Given the description of an element on the screen output the (x, y) to click on. 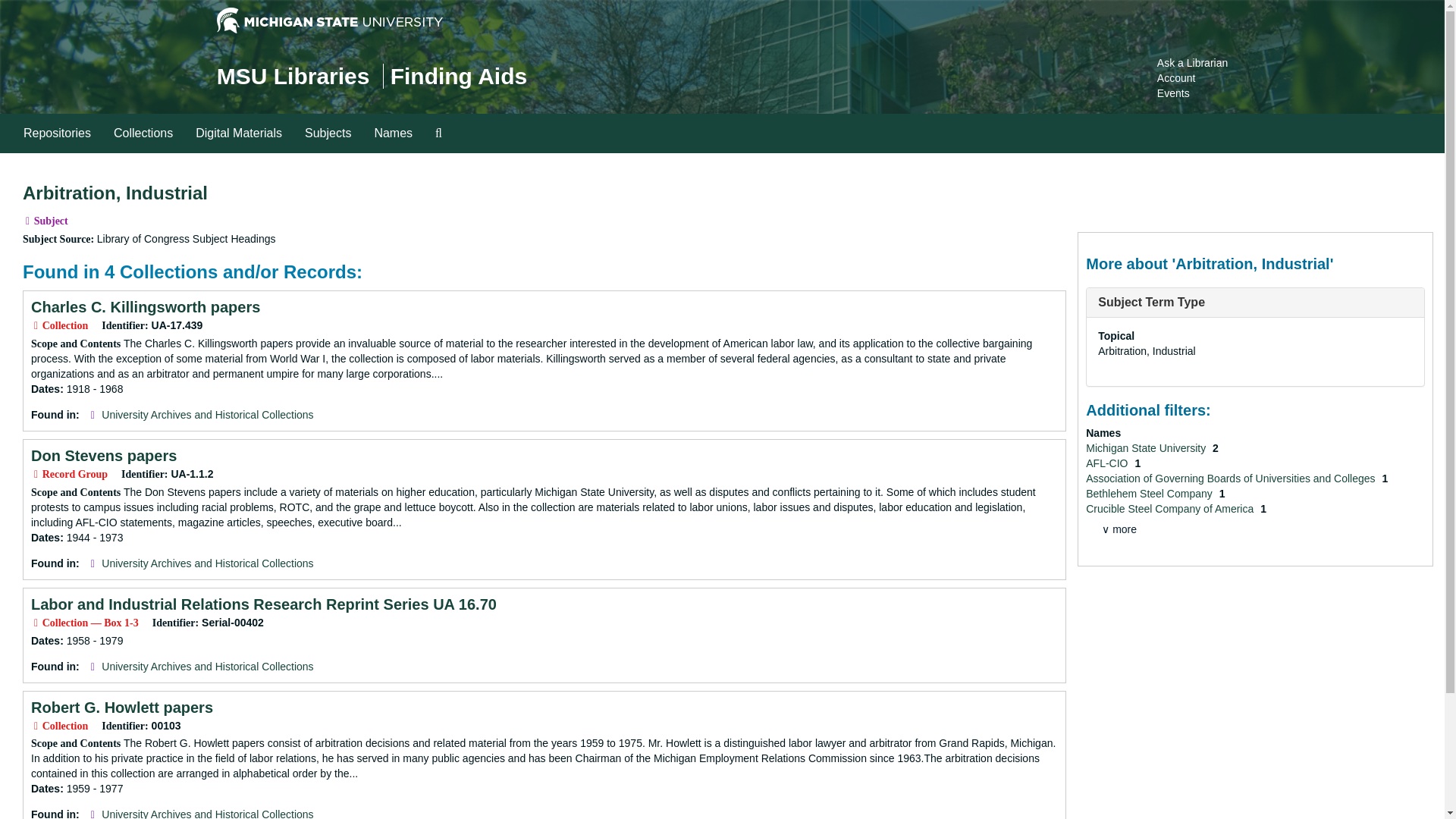
Page Actions (1136, 175)
University Archives and Historical Collections (207, 563)
Repositories (56, 133)
Collections (142, 133)
University Archives and Historical Collections (207, 813)
MSU Libraries (292, 75)
University Archives and Historical Collections (207, 666)
Subjects (328, 133)
Home (292, 75)
Finding Aids (458, 75)
Charles C. Killingsworth papers (145, 306)
University Archives and Historical Collections (207, 414)
Filter By 'Bethlehem Steel Company' (1150, 493)
